Given the description of an element on the screen output the (x, y) to click on. 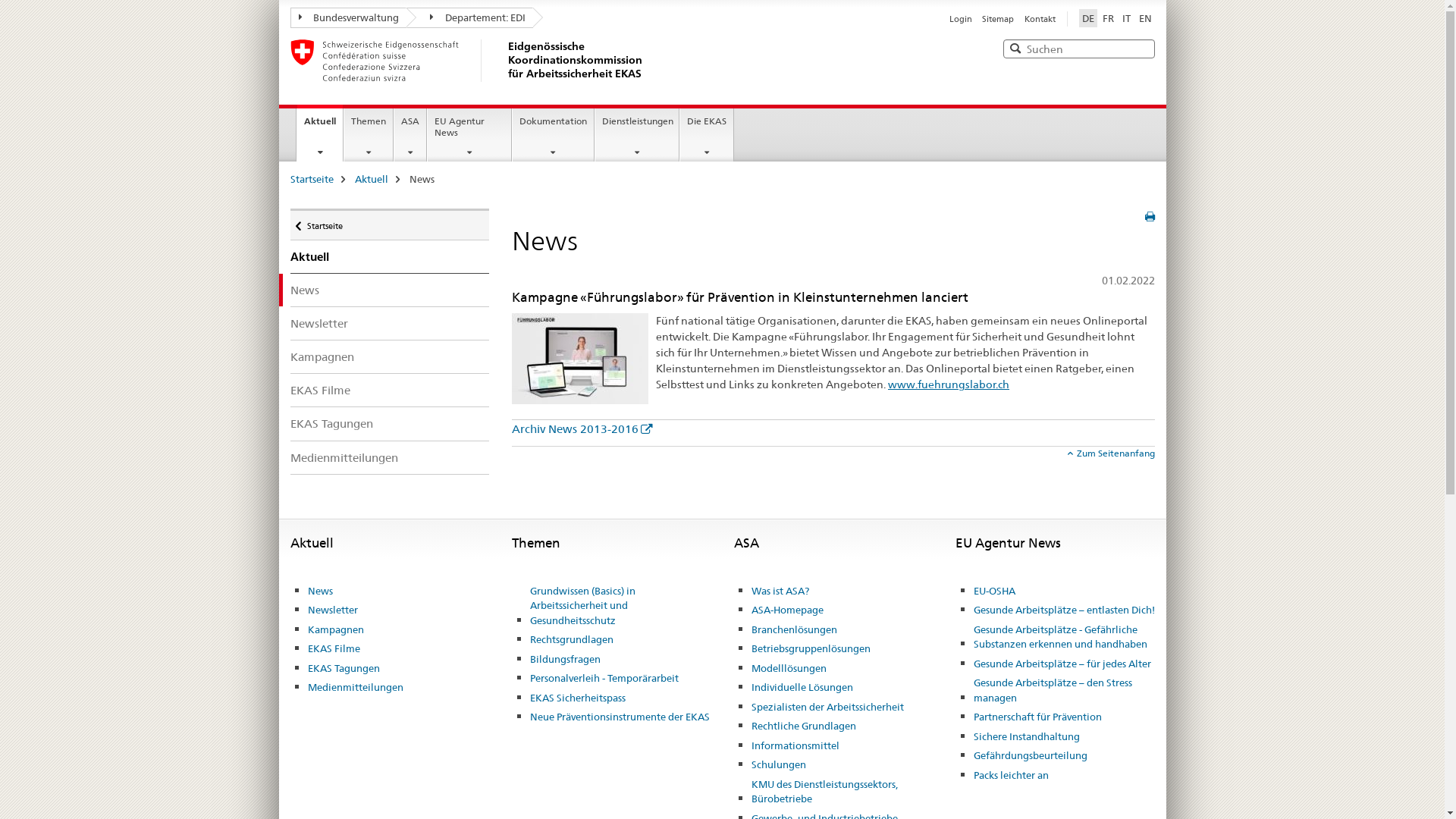
Kontakt Element type: text (1038, 18)
Bundesverwaltung Element type: text (347, 17)
Newsletter Element type: text (332, 610)
Kampagnen Element type: text (335, 630)
ASA Element type: text (746, 542)
EKAS Tagungen Element type: text (343, 668)
Departement: EDI Element type: text (469, 17)
Themen Element type: text (535, 542)
Sichere Instandhaltung Element type: text (1026, 736)
Aktuell Element type: text (310, 542)
Medienmitteilungen Element type: text (389, 457)
ASA Element type: text (410, 134)
Dokumentation Element type: text (552, 134)
Dienstleistungen Element type: text (636, 134)
EU Agentur News Element type: text (469, 134)
Was ist ASA? Element type: text (780, 591)
Newsletter Element type: text (389, 323)
EKAS Filme Element type: text (389, 389)
News Element type: text (319, 591)
Aktuell
current page Element type: text (319, 132)
Aktuell Element type: text (371, 178)
Archiv News 2013-2016 Element type: text (581, 428)
Sitemap Element type: text (997, 18)
Themen Element type: text (368, 134)
EKAS Tagungen Element type: text (389, 423)
News
active Element type: text (389, 289)
IT Element type: text (1126, 18)
Startseite Element type: text (389, 224)
EKAS Sicherheitspass Element type: text (576, 698)
EN Element type: text (1144, 18)
Die EKAS Element type: text (706, 134)
Rechtliche Grundlagen Element type: text (803, 726)
Rechtsgrundlagen Element type: text (570, 639)
ASA-Homepage Element type: text (787, 610)
Zum Seitenanfang Element type: text (1110, 453)
Spezialisten der Arbeitssicherheit Element type: text (827, 707)
Druckversion Element type: hover (1149, 216)
Login Element type: text (960, 18)
Kampagnen Element type: text (389, 356)
Medienmitteilungen Element type: text (355, 687)
EU Agentur News Element type: text (1007, 542)
Packs leichter an Element type: text (1010, 775)
DE Element type: text (1087, 18)
EU-OSHA Element type: text (994, 591)
Bildungsfragen Element type: text (564, 659)
Informationsmittel Element type: text (795, 746)
Startseite Element type: text (310, 178)
www.fuehrungslabor.ch Element type: text (948, 384)
EKAS Filme Element type: text (333, 648)
Schulungen Element type: text (778, 765)
FR Element type: text (1108, 18)
